Given the description of an element on the screen output the (x, y) to click on. 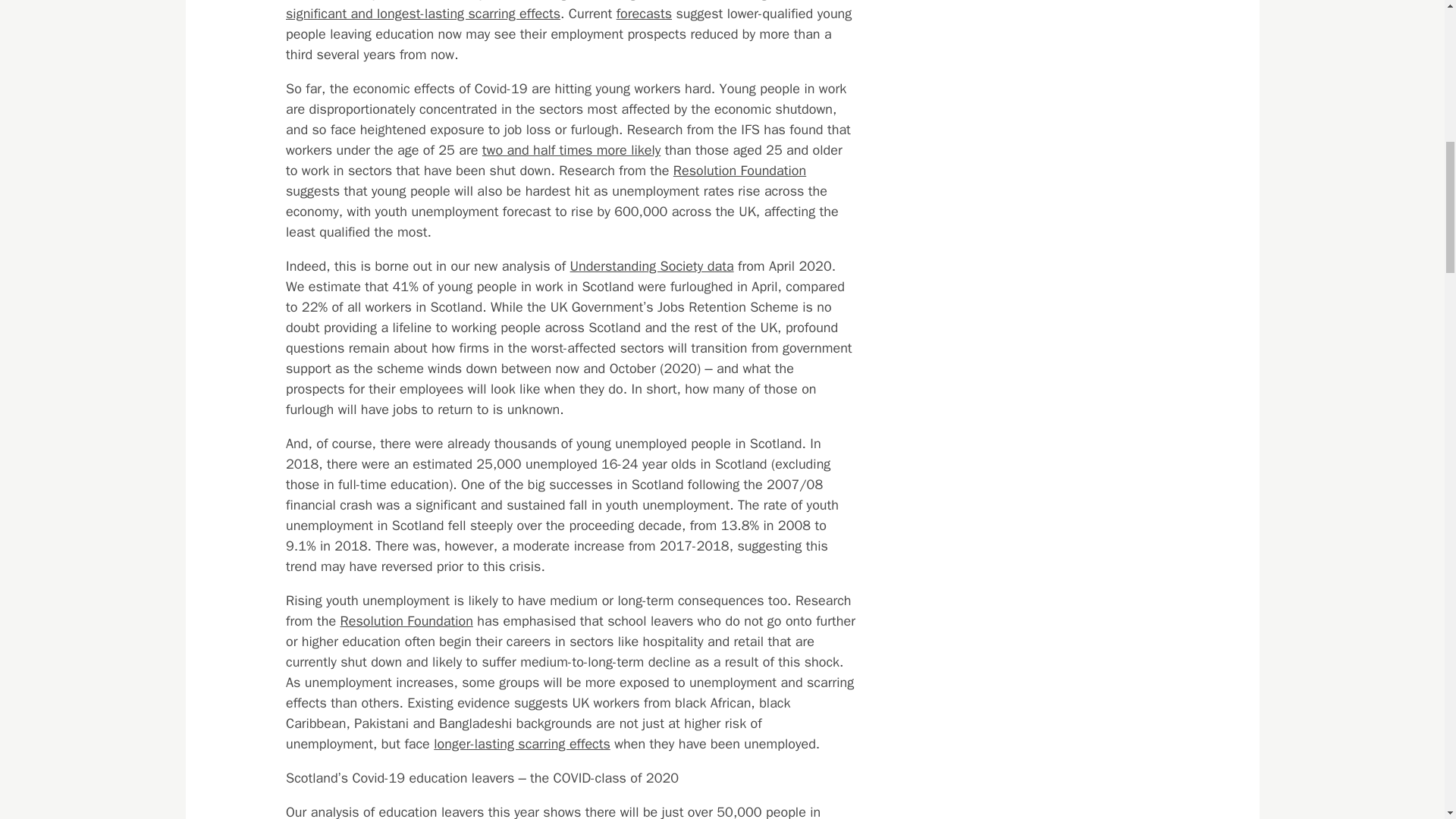
Resolution Foundation (738, 170)
Understanding Society data (651, 265)
most significant and longest-lasting scarring effects (554, 11)
longer-lasting scarring effects (521, 743)
two and half times more likely (570, 149)
Resolution Foundation (405, 620)
forecasts (643, 13)
